Given the description of an element on the screen output the (x, y) to click on. 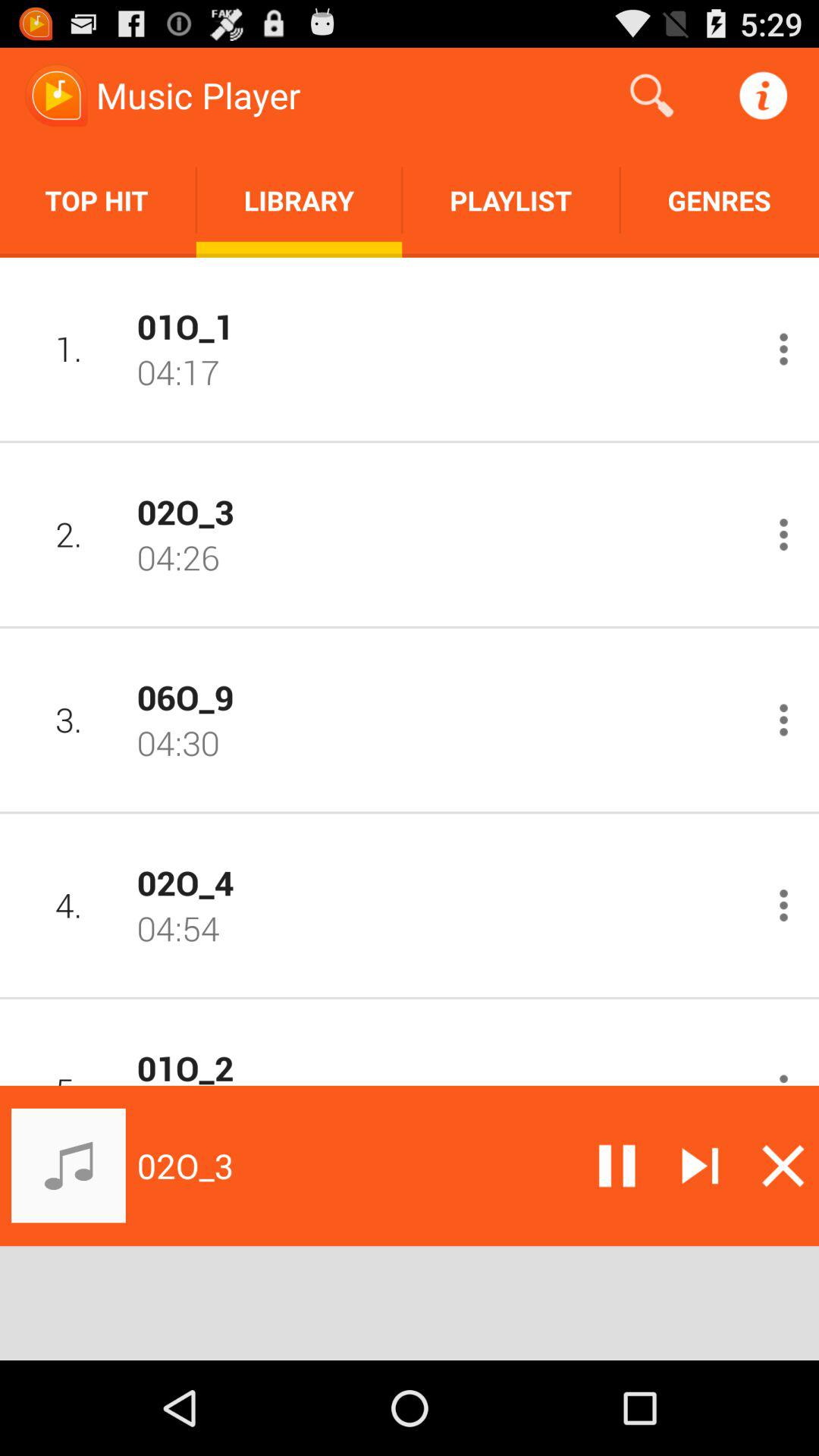
settings button (783, 1075)
